Given the description of an element on the screen output the (x, y) to click on. 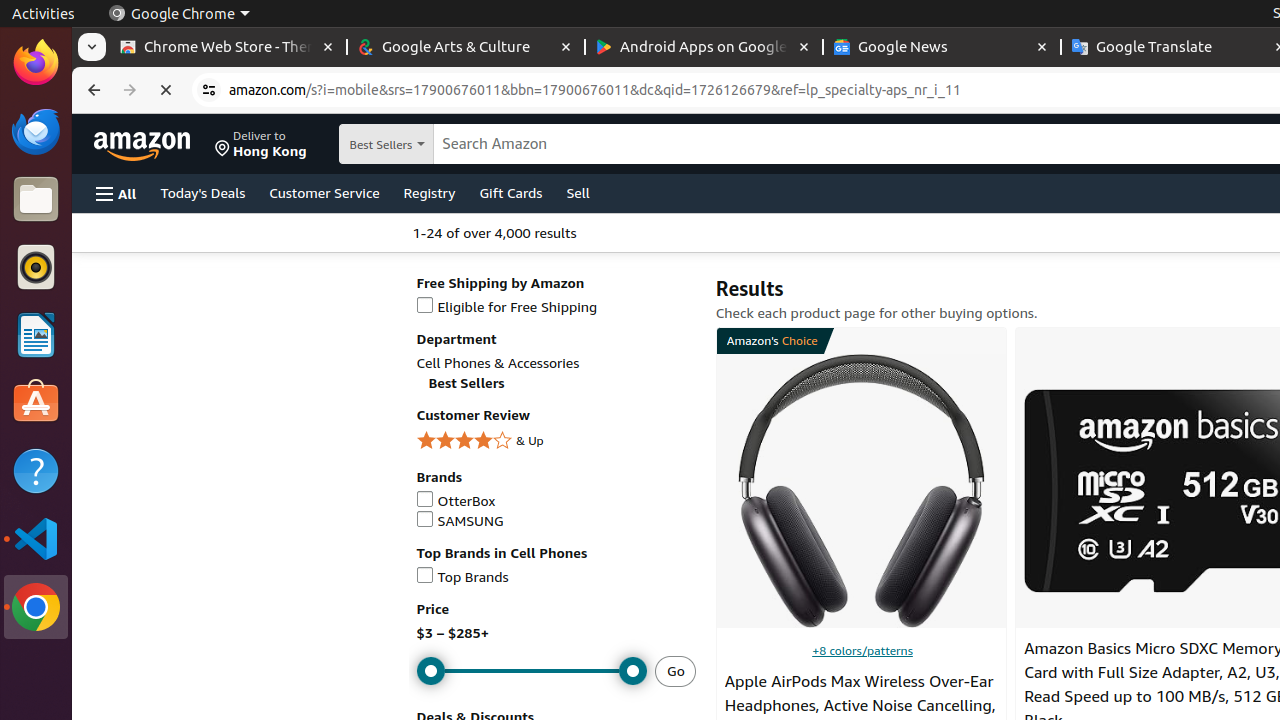
Files Element type: push-button (36, 199)
Help Element type: push-button (36, 470)
Deliver to Hong Kong Element type: link (261, 144)
Go - Submit price range Element type: push-button (675, 671)
+8 colors/patterns Element type: link (862, 650)
